Given the description of an element on the screen output the (x, y) to click on. 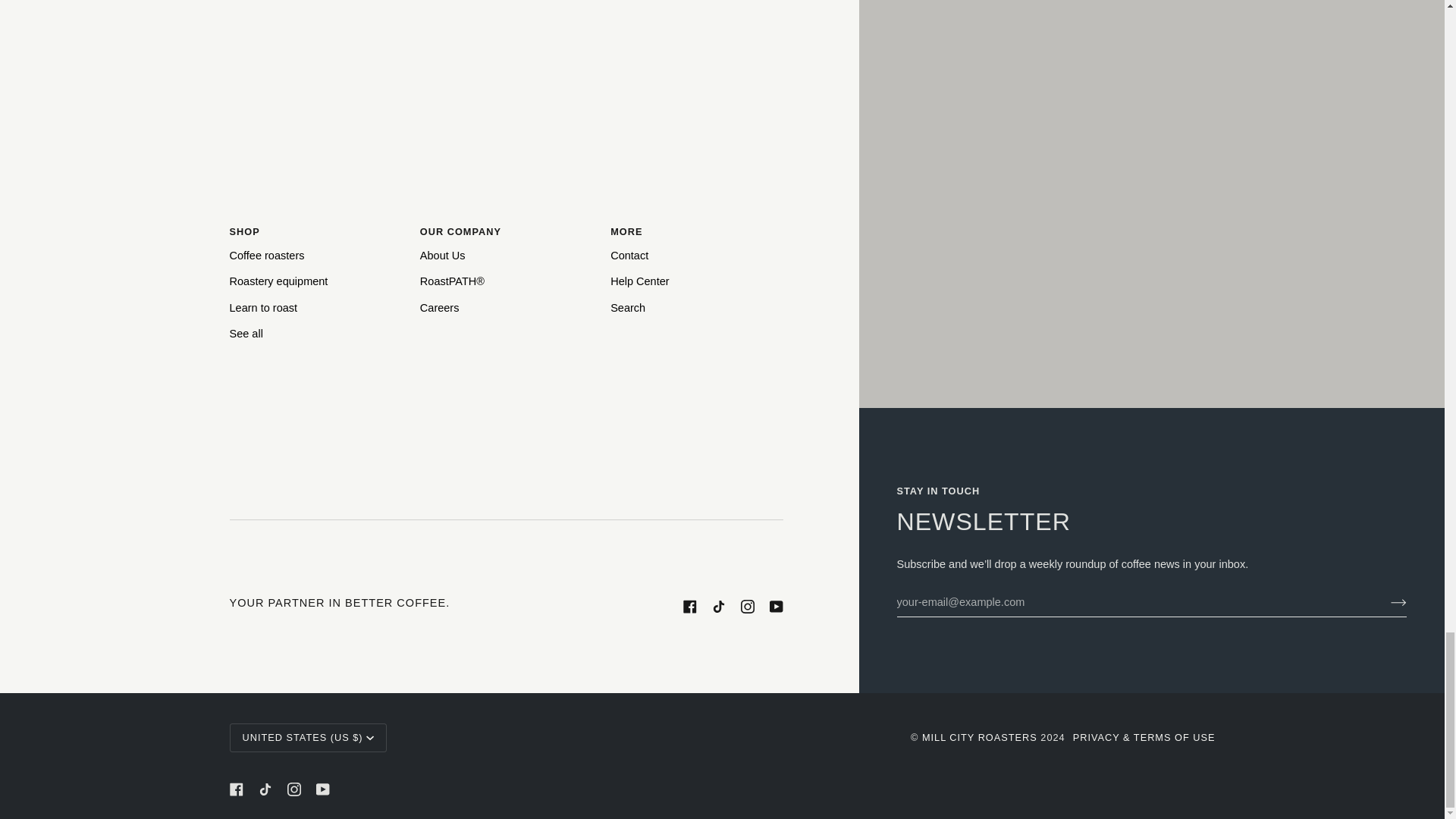
Instagram (292, 789)
Facebook (235, 789)
Instagram (746, 606)
YouTube (775, 606)
Tiktok (263, 789)
Tiktok (718, 606)
Facebook (688, 606)
YouTube (322, 789)
